Given the description of an element on the screen output the (x, y) to click on. 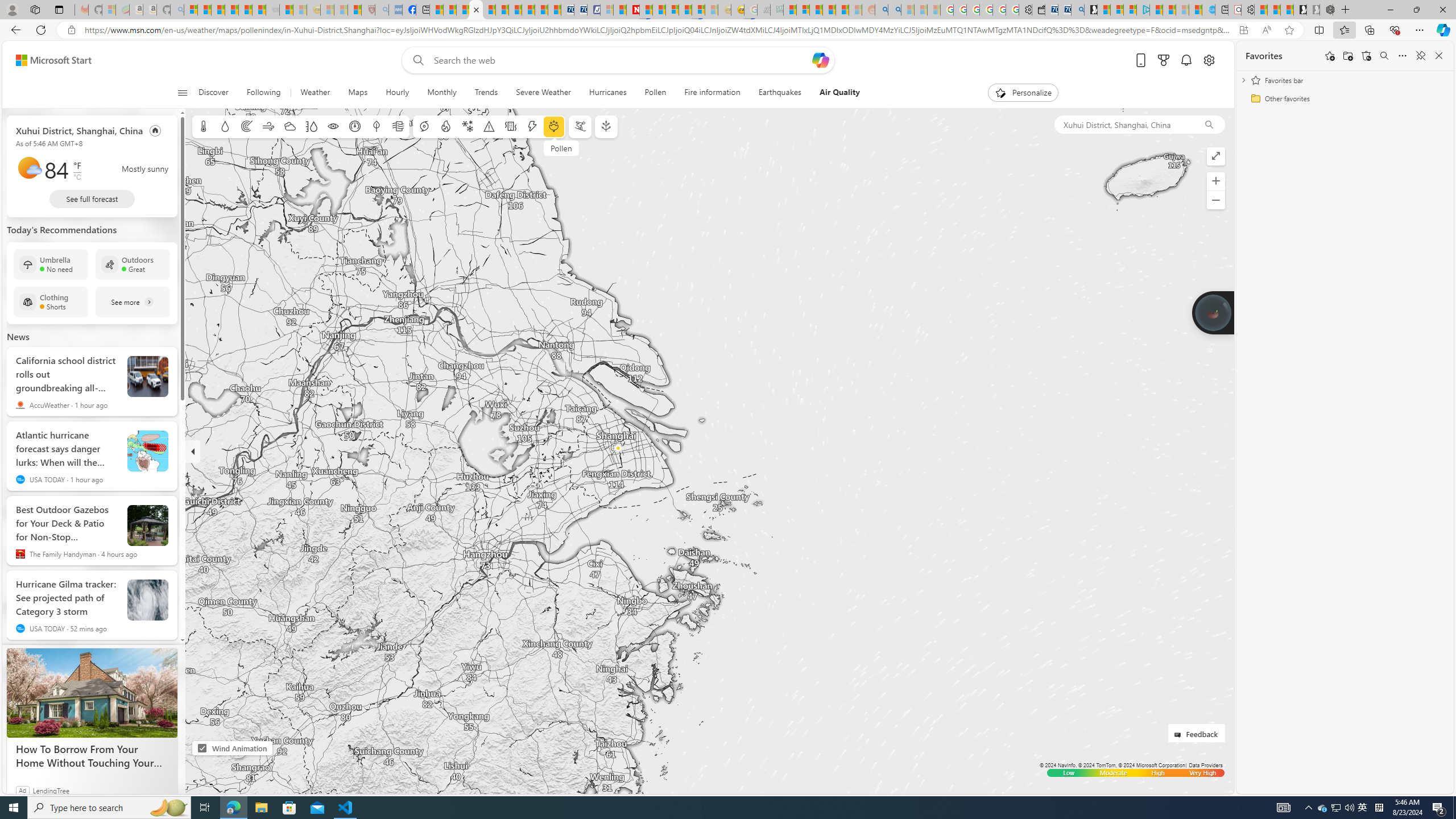
Hide (192, 450)
Severe Weather (542, 92)
Umbrella No need (50, 264)
Pollen (655, 92)
Hurricanes (607, 92)
Enter your search term (619, 59)
World - MSN (462, 9)
Utah sues federal government - Search (894, 9)
Cheap Car Rentals - Save70.com (1063, 9)
Add folder (1347, 55)
